Given the description of an element on the screen output the (x, y) to click on. 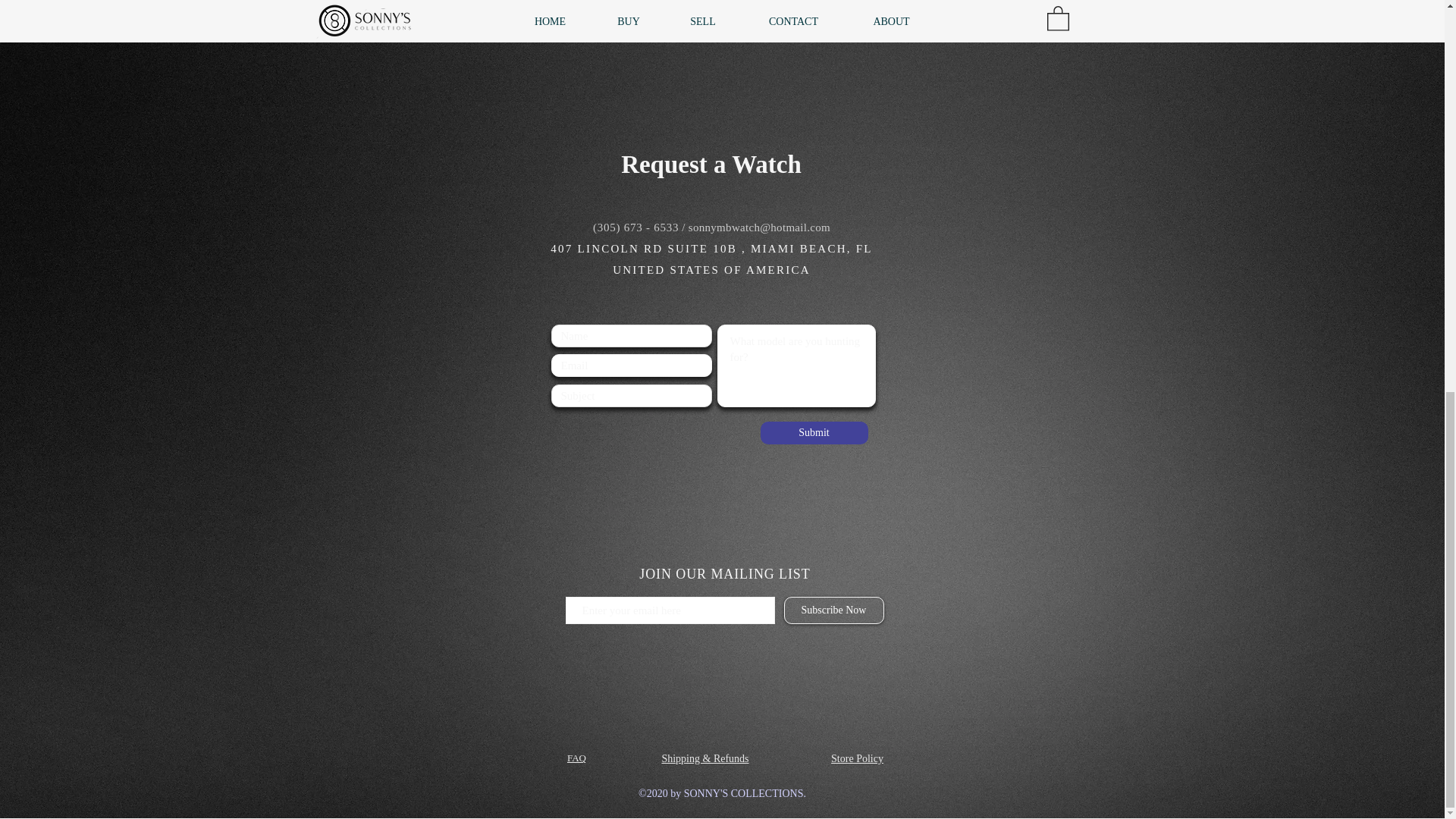
Submit (813, 432)
Subscribe Now (833, 610)
Store Policy (857, 758)
FAQ (576, 757)
